Given the description of an element on the screen output the (x, y) to click on. 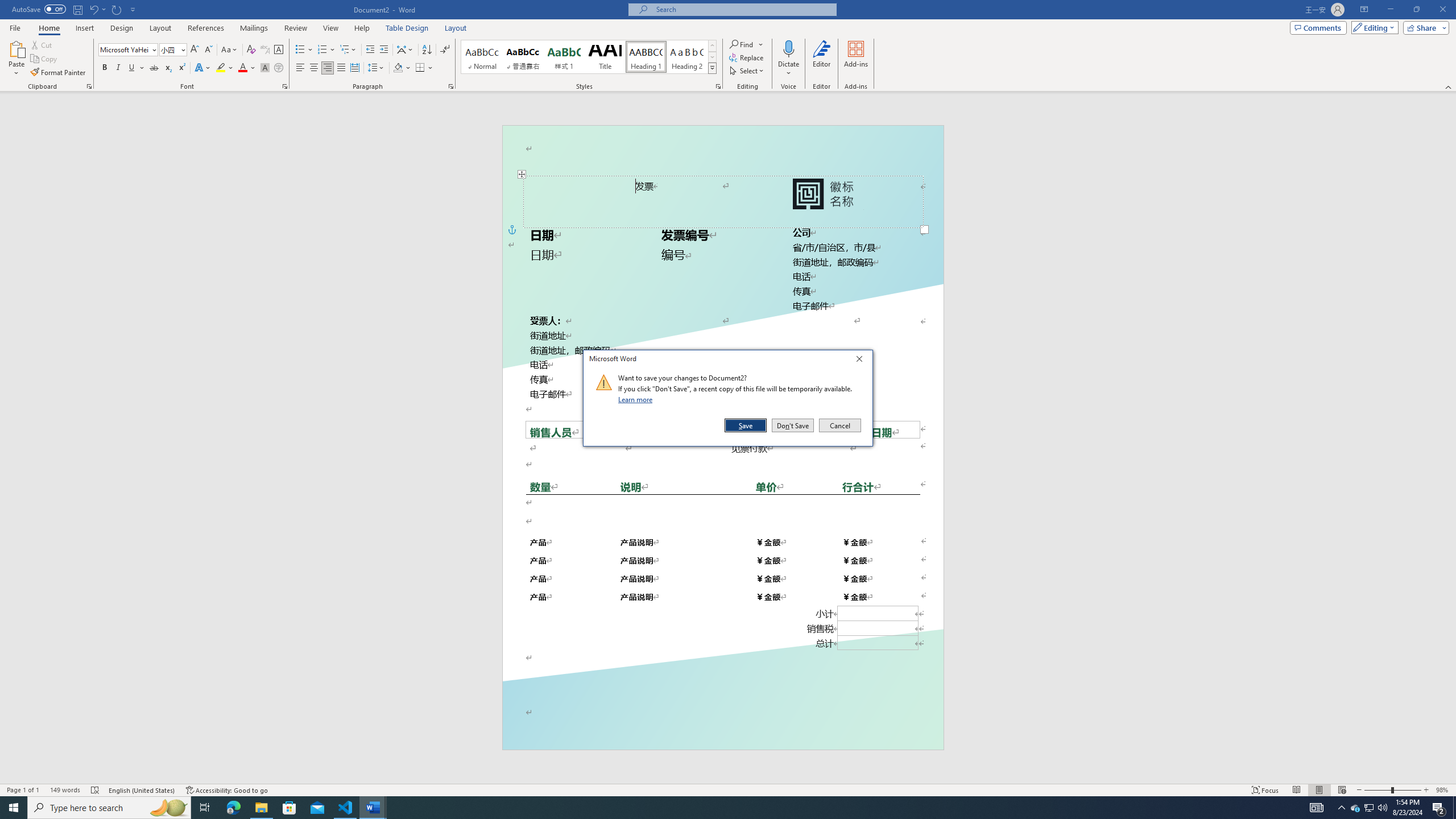
First Page Header -Section 1- (722, 140)
